Given the description of an element on the screen output the (x, y) to click on. 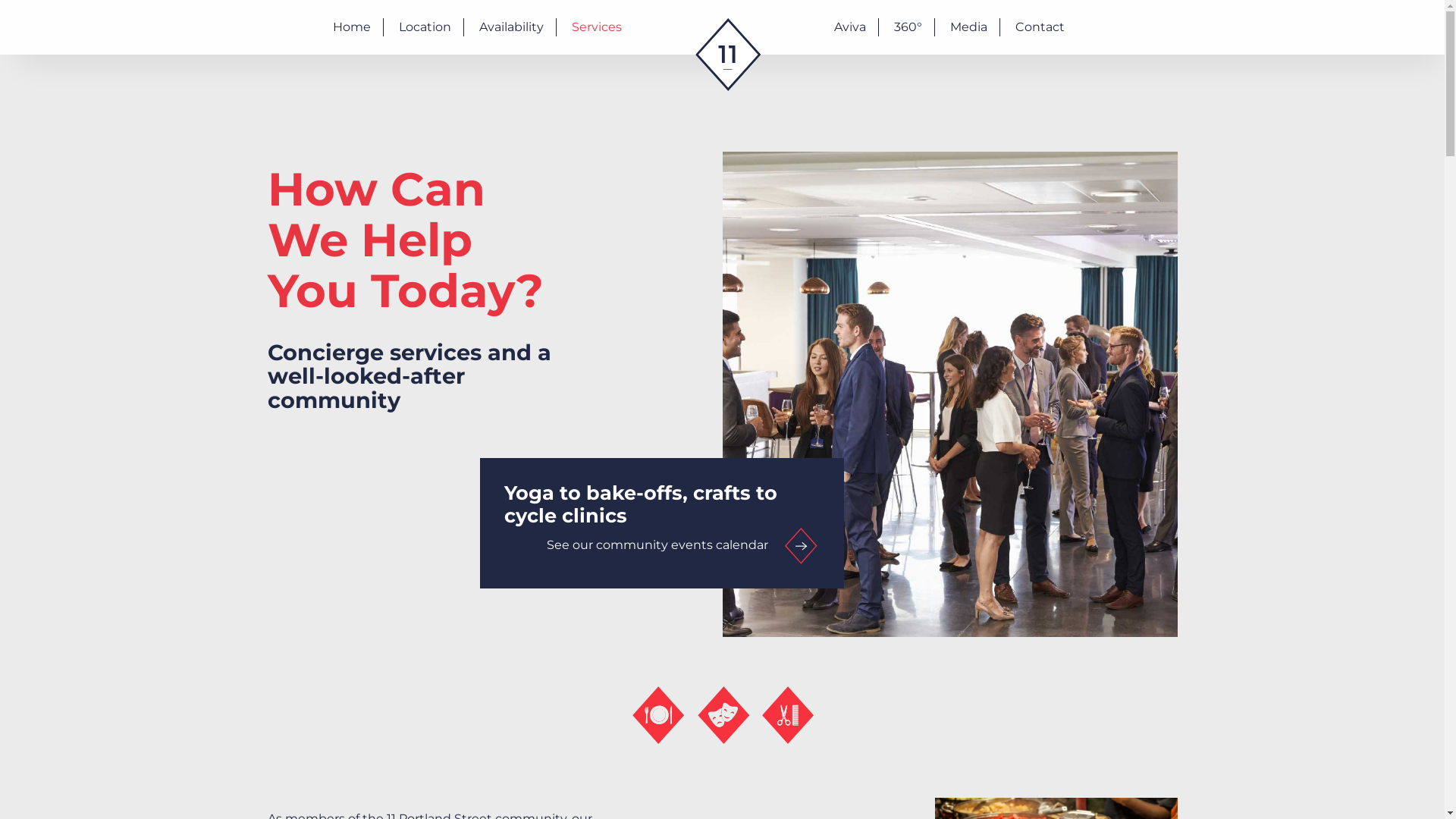
Home Element type: text (351, 27)
Location Element type: text (424, 27)
11 Portland Steet Element type: hover (727, 86)
Aviva Element type: text (850, 27)
Media Element type: text (968, 27)
11portland-icons-services Element type: hover (721, 714)
11Portland-Services-1 Element type: hover (948, 394)
Availability Element type: text (511, 27)
Services Element type: text (596, 27)
Contact Element type: text (1039, 27)
